Given the description of an element on the screen output the (x, y) to click on. 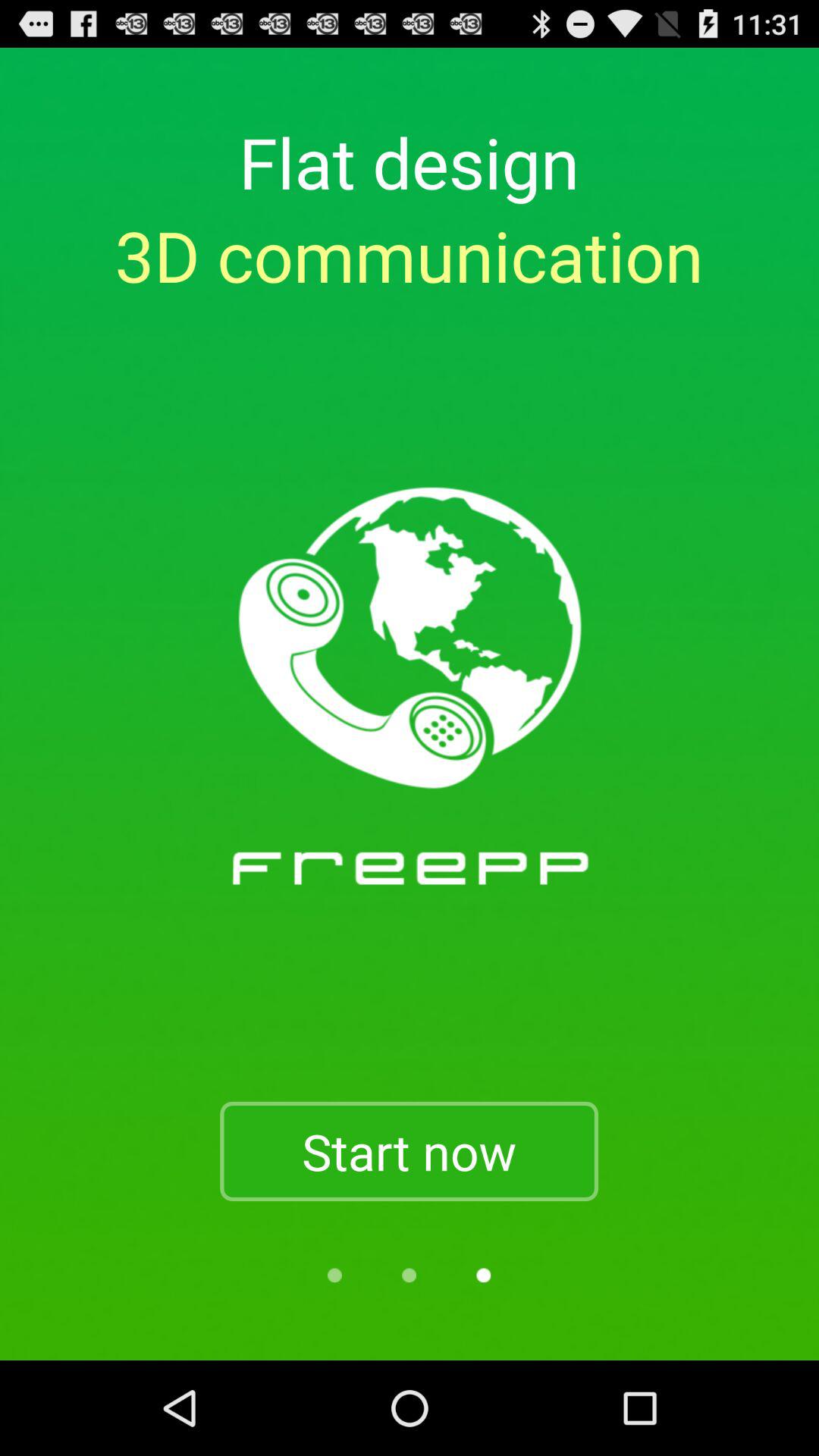
turn on icon below the start now (483, 1275)
